Given the description of an element on the screen output the (x, y) to click on. 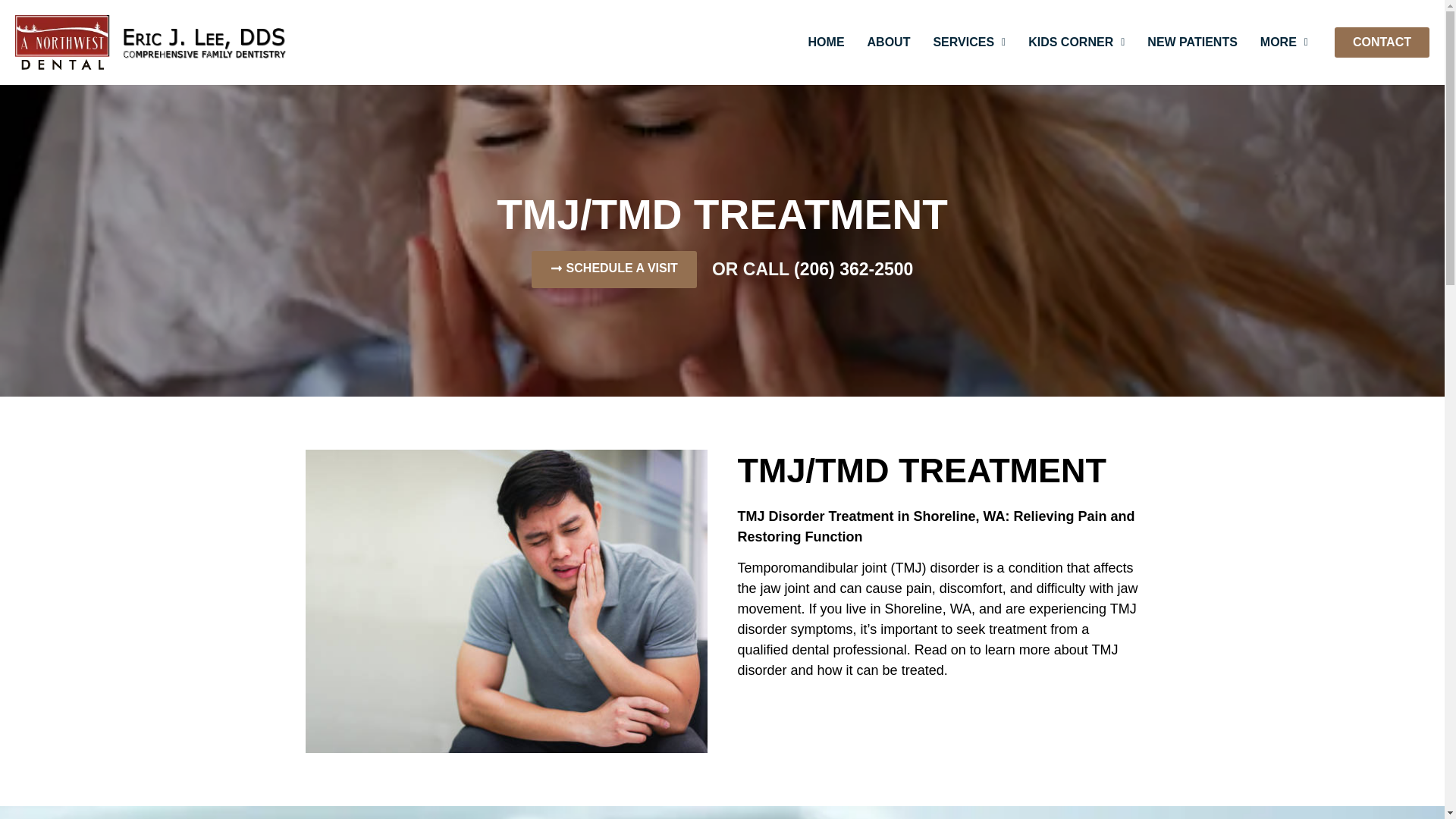
CONTACT (1382, 42)
ABOUT (888, 42)
NEW PATIENTS (1192, 42)
SERVICES (968, 42)
HOME (826, 42)
KIDS CORNER (1075, 42)
MORE (1284, 42)
SCHEDULE A VISIT (614, 269)
